Given the description of an element on the screen output the (x, y) to click on. 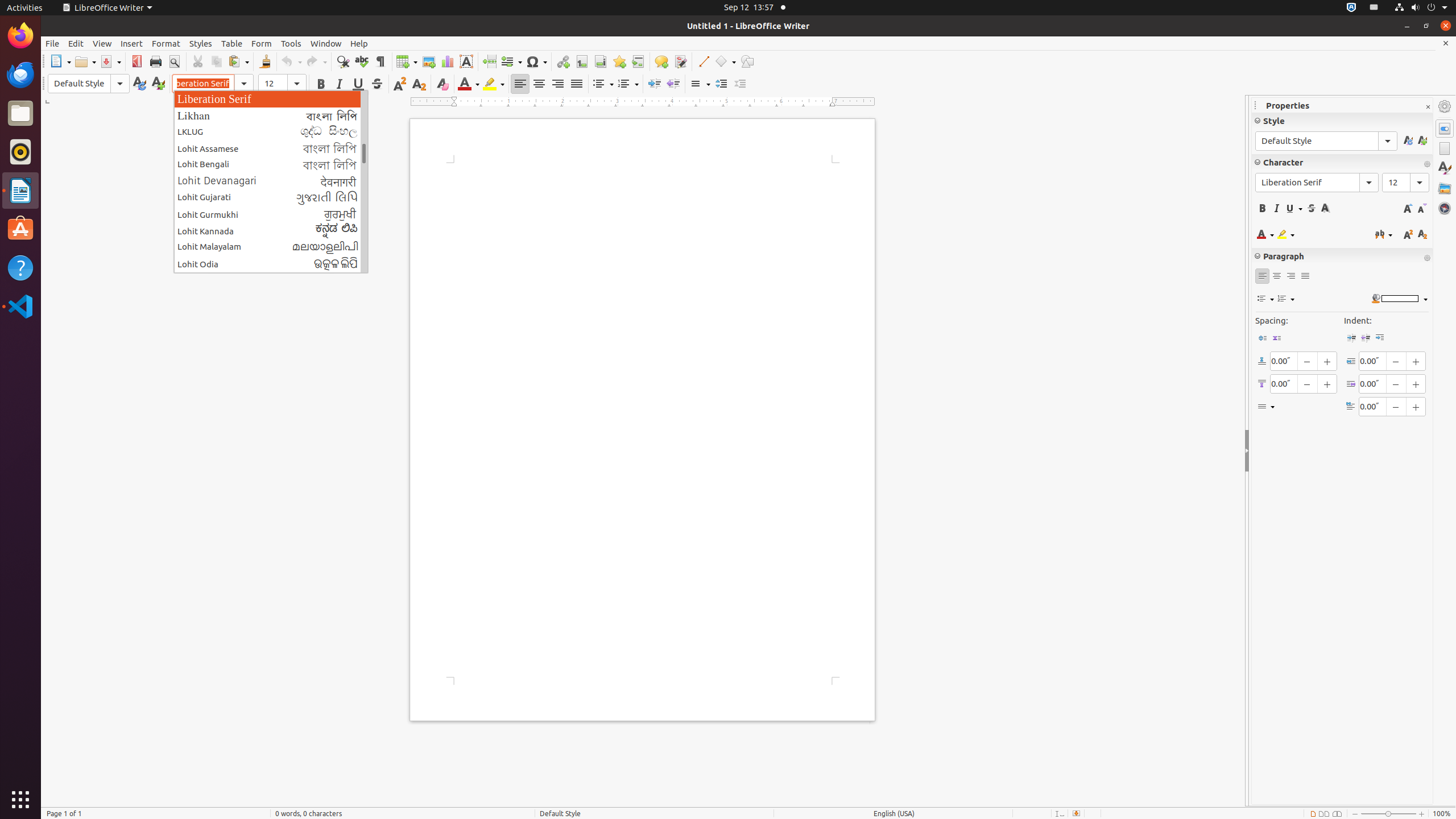
System Element type: menu (1420, 7)
Draw Functions Element type: toggle-button (746, 61)
Redo Element type: push-button (315, 61)
Field Element type: push-button (510, 61)
Lohit Malayalam Element type: list-item (270, 246)
